Given the description of an element on the screen output the (x, y) to click on. 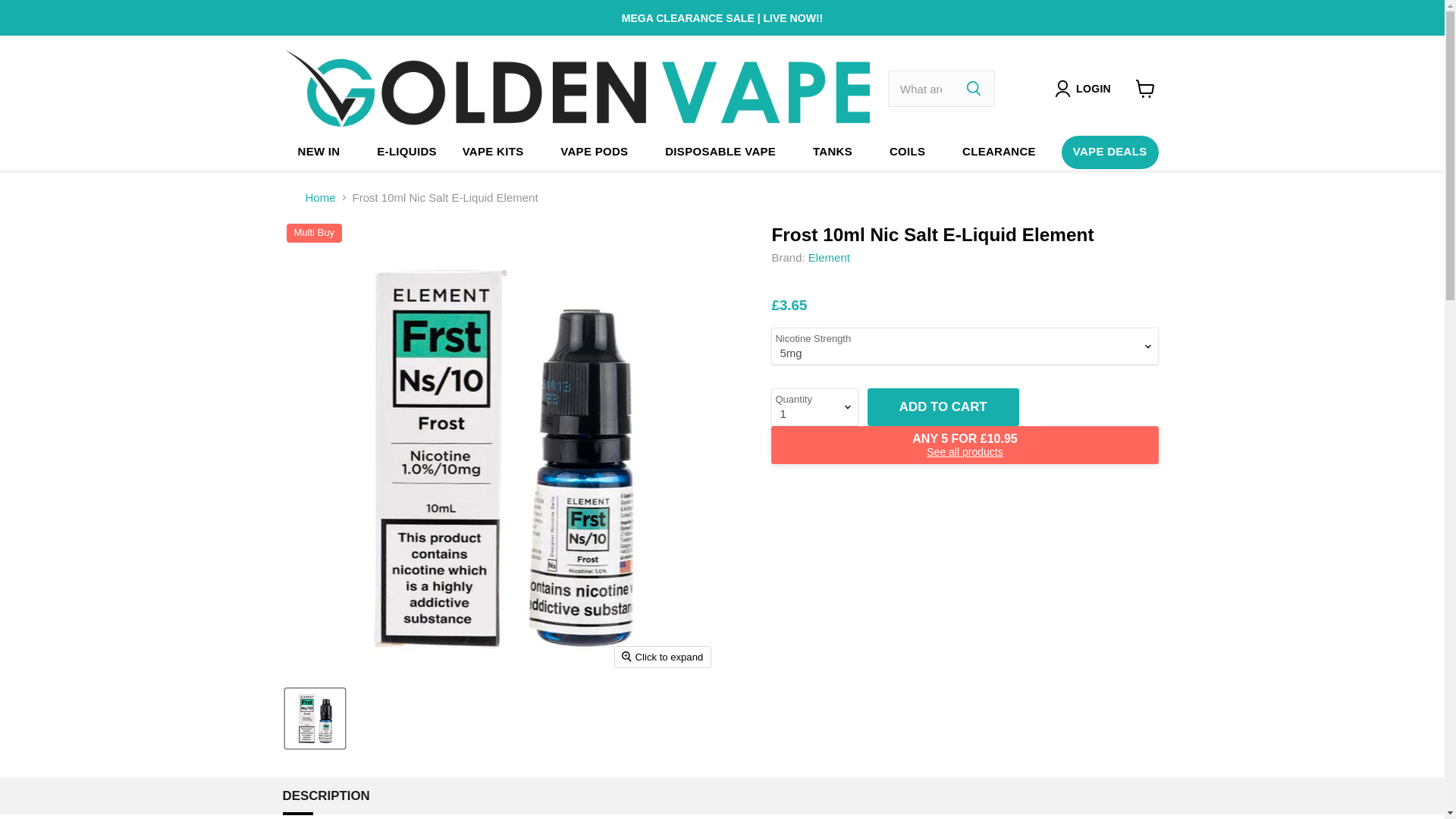
View cart (1144, 88)
LOGIN (1093, 88)
NEW IN (319, 151)
Element (829, 256)
E-LIQUIDS (406, 151)
